Given the description of an element on the screen output the (x, y) to click on. 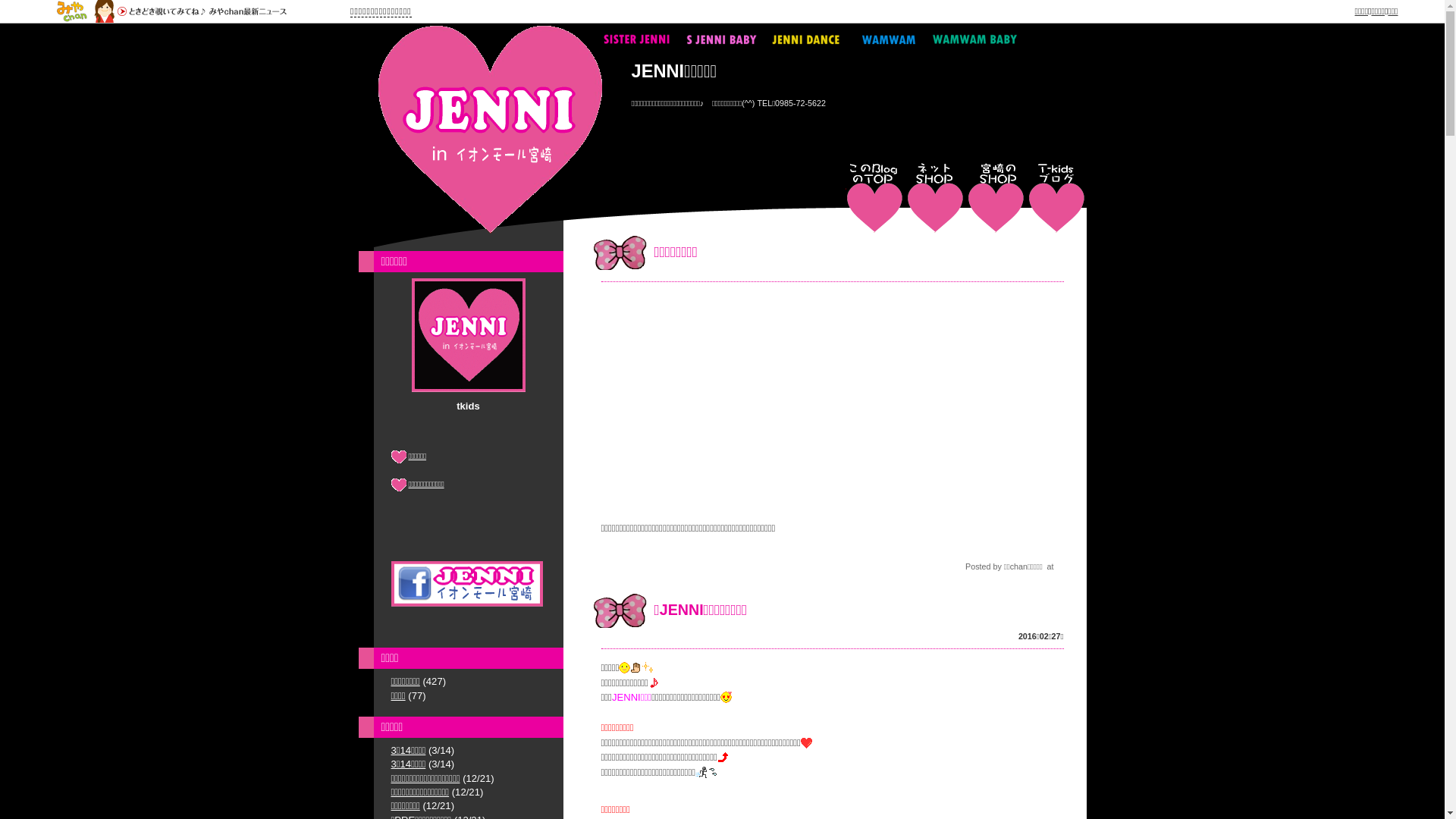
Advertisement Element type: hover (831, 399)
